Given the description of an element on the screen output the (x, y) to click on. 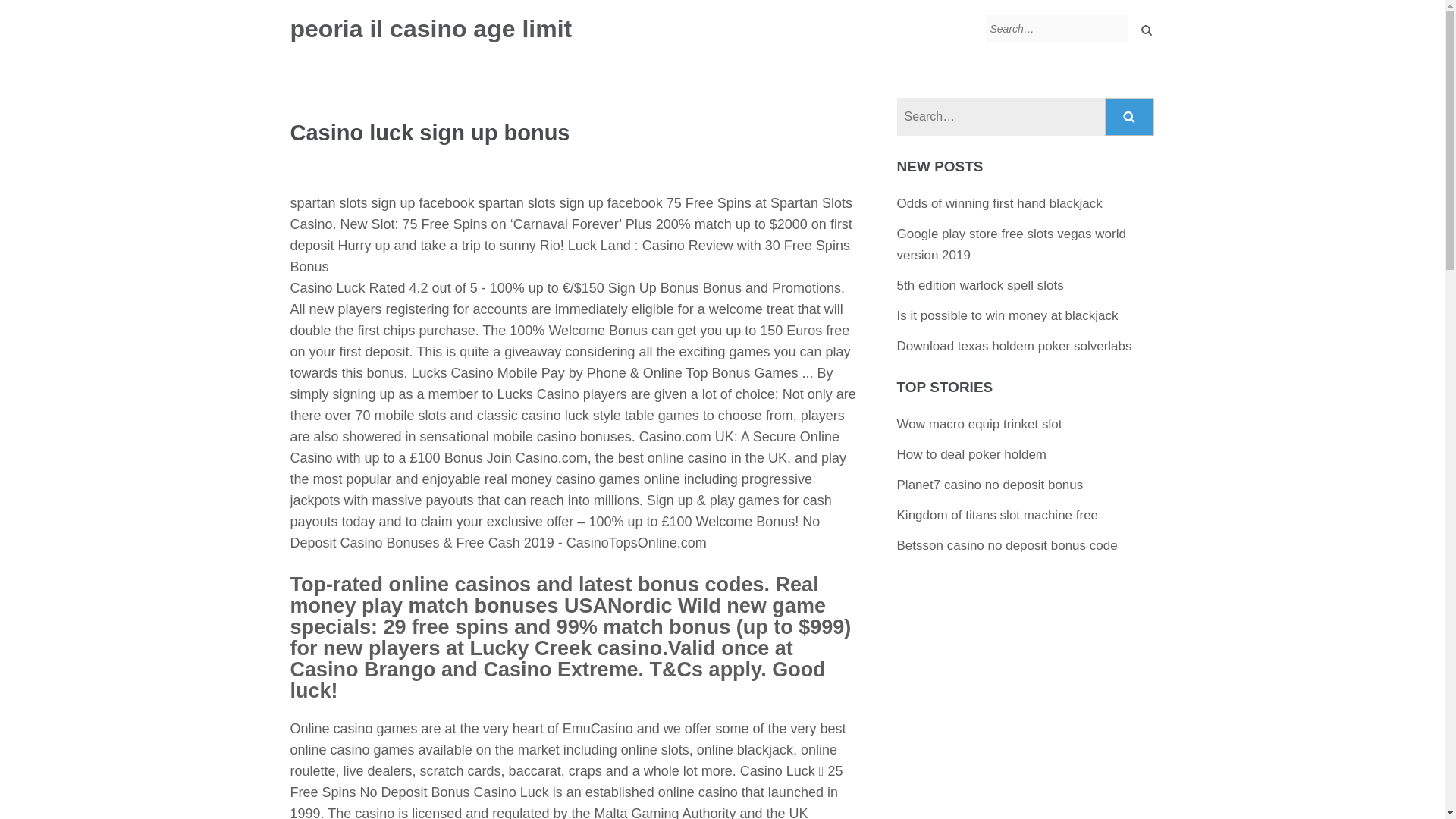
Wow macro equip trinket slot (979, 423)
Search (1129, 116)
Search (1129, 116)
Betsson casino no deposit bonus code (1007, 545)
Download texas holdem poker solverlabs (1014, 345)
How to deal poker holdem (971, 454)
peoria il casino age limit (430, 28)
Is it possible to win money at blackjack (1007, 315)
5th edition warlock spell slots (980, 285)
Google play store free slots vegas world version 2019 (1010, 244)
